Given the description of an element on the screen output the (x, y) to click on. 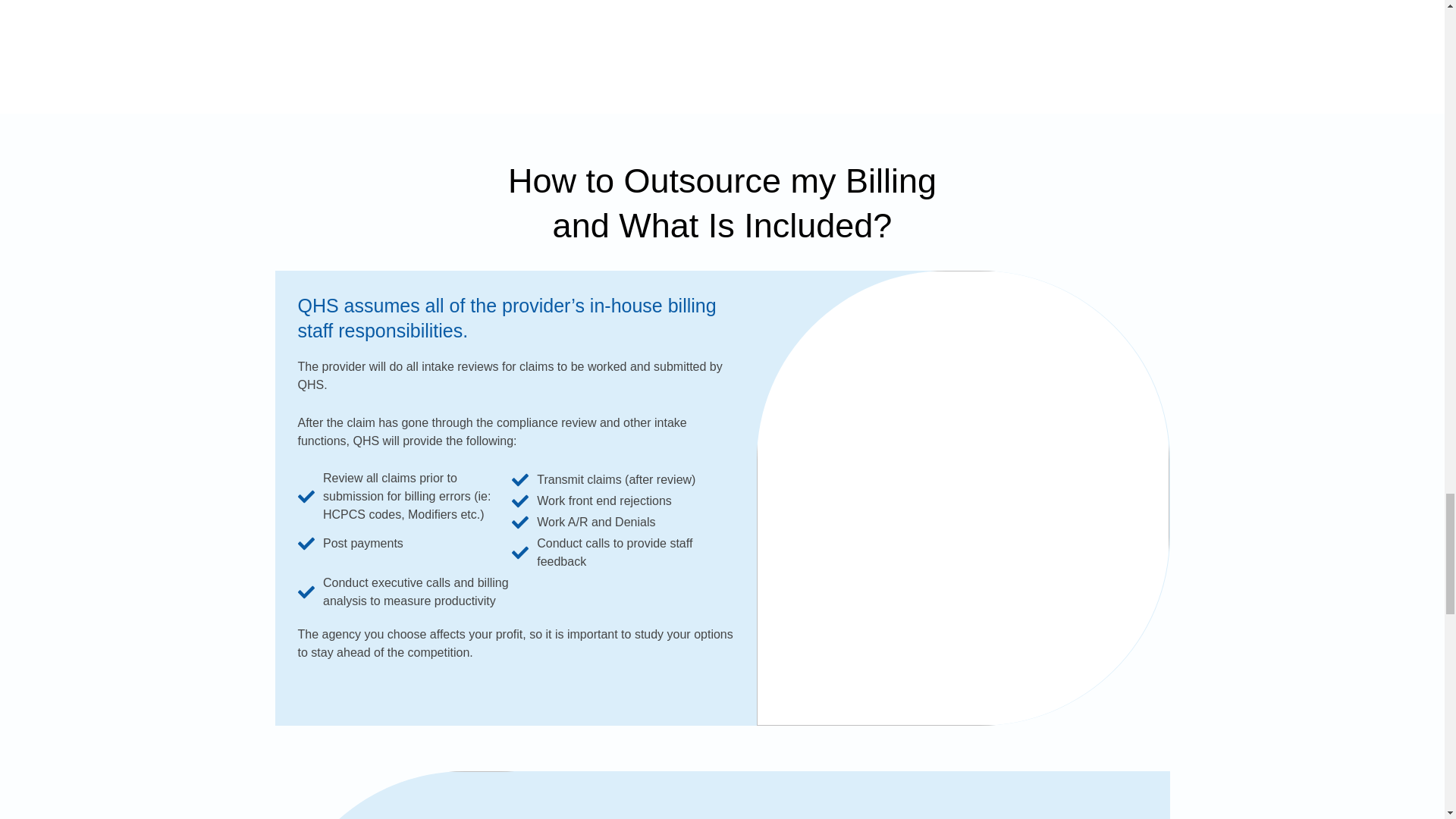
How to Outsource my Billing and What Is Included? (722, 203)
